Given the description of an element on the screen output the (x, y) to click on. 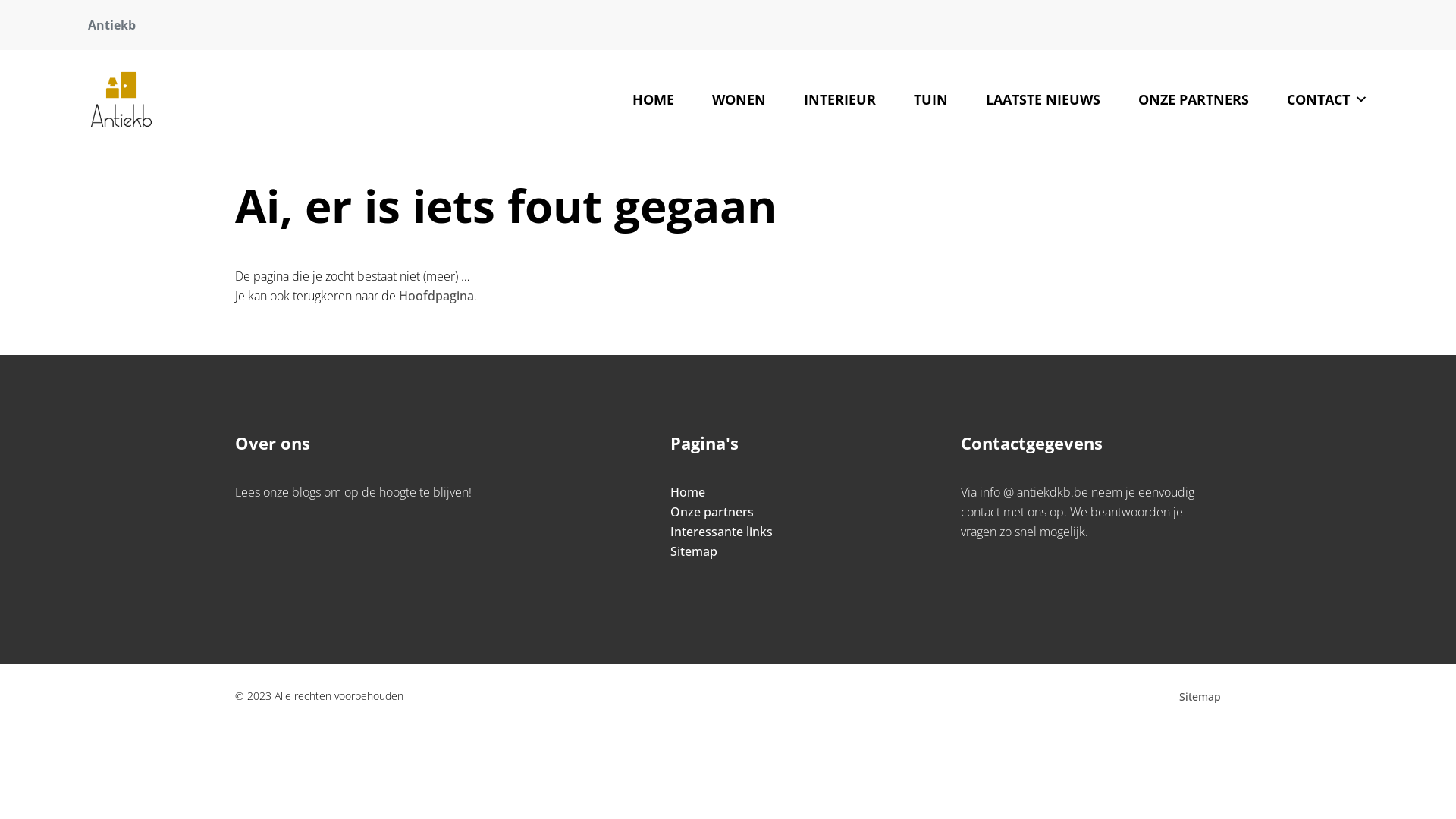
Sitemap Element type: text (693, 550)
Hoofdpagina Element type: text (435, 295)
Onze partners Element type: text (711, 511)
Home Element type: text (687, 491)
Sitemap Element type: text (1199, 696)
INTERIEUR Element type: text (839, 99)
TUIN Element type: text (930, 99)
antiekdkb Element type: hover (120, 99)
LAATSTE NIEUWS Element type: text (1042, 99)
CONTACT Element type: text (1326, 99)
WONEN Element type: text (738, 99)
ONZE PARTNERS Element type: text (1193, 99)
HOME Element type: text (653, 99)
Interessante links Element type: text (721, 531)
